Given the description of an element on the screen output the (x, y) to click on. 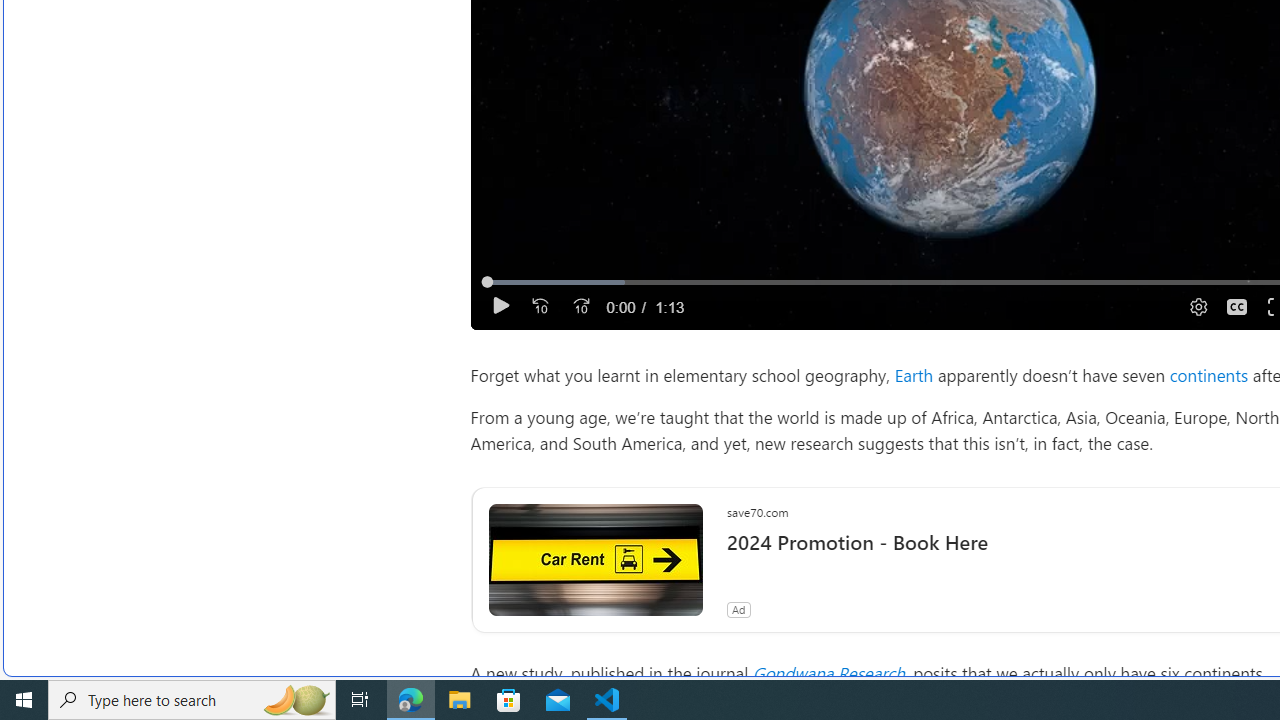
Captions (1236, 306)
Seek Forward (580, 306)
Seek Back (539, 306)
continents (1208, 373)
Gondwana Research (828, 672)
Quality Settings (1196, 306)
Earth (913, 373)
